Given the description of an element on the screen output the (x, y) to click on. 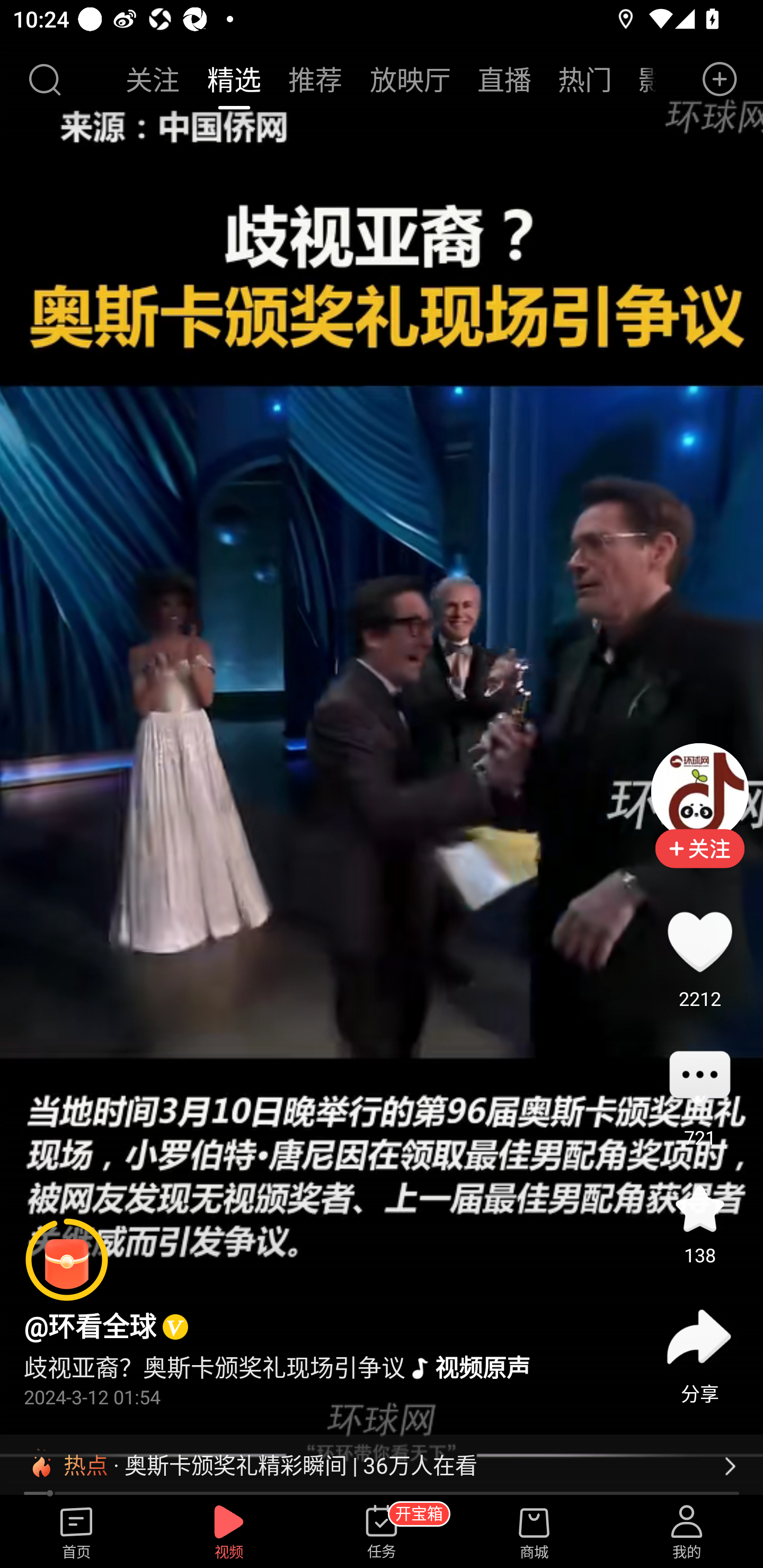
关注 (153, 79)
精选 (233, 79)
推荐 (315, 79)
放映厅 (409, 79)
直播 (504, 79)
热门 (584, 79)
搜索 (44, 79)
发布 (720, 79)
头像 (699, 791)
加关注 (699, 862)
点赞2212 2212 (699, 941)
评论721 评论 721 (699, 1080)
收藏 138 (699, 1207)
阅读赚金币 (66, 1259)
分享 (699, 1336)
@环看全球 (89, 1326)
热点  · 奥斯卡颁奖礼精彩瞬间  | 36万人在看 (381, 1465)
首页 (76, 1532)
视频 (228, 1532)
任务 开宝箱 (381, 1532)
商城 (533, 1532)
我的 (686, 1532)
